Given the description of an element on the screen output the (x, y) to click on. 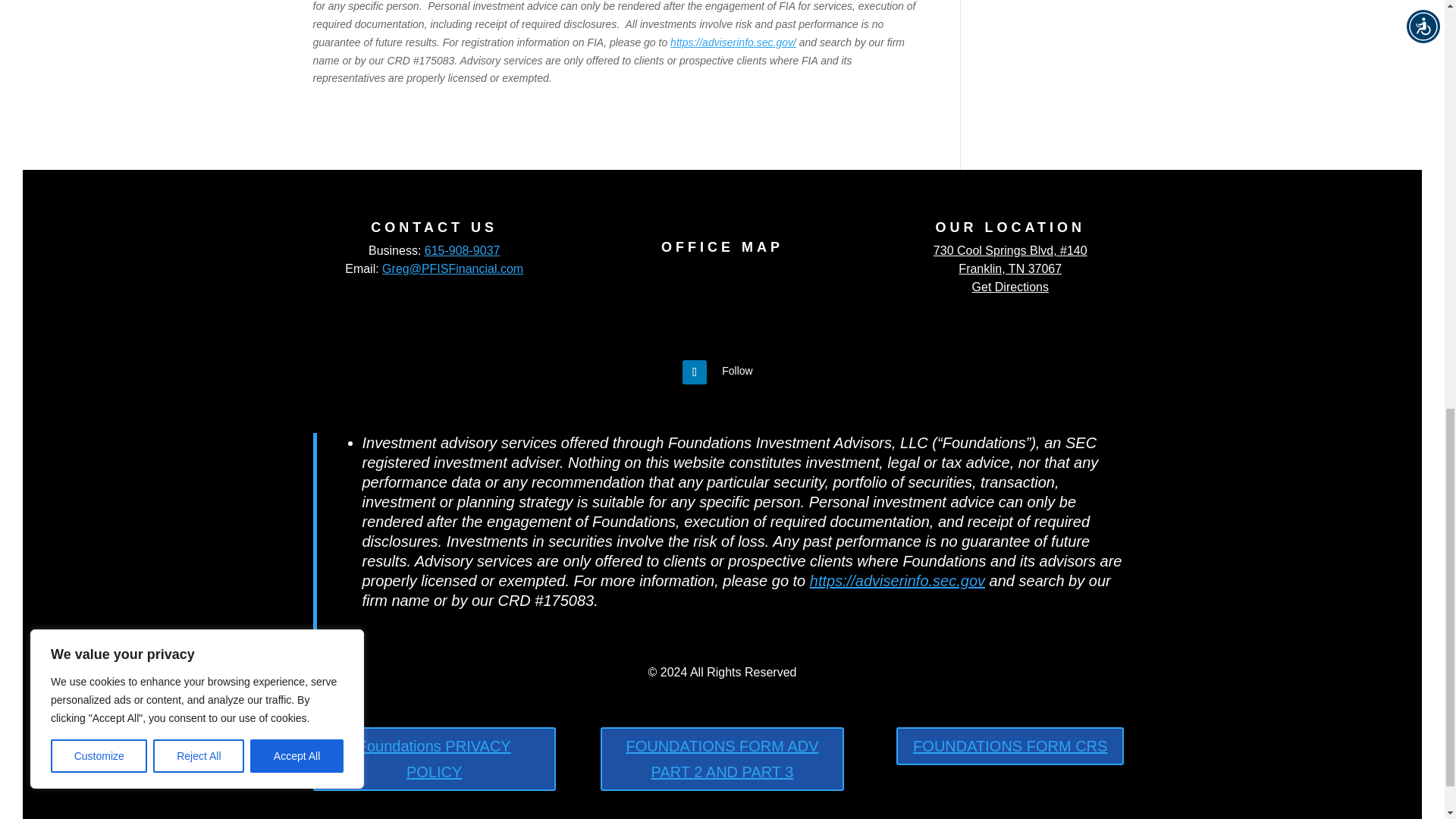
Follow on LinkedIn (694, 371)
LinkedIn (737, 370)
